Given the description of an element on the screen output the (x, y) to click on. 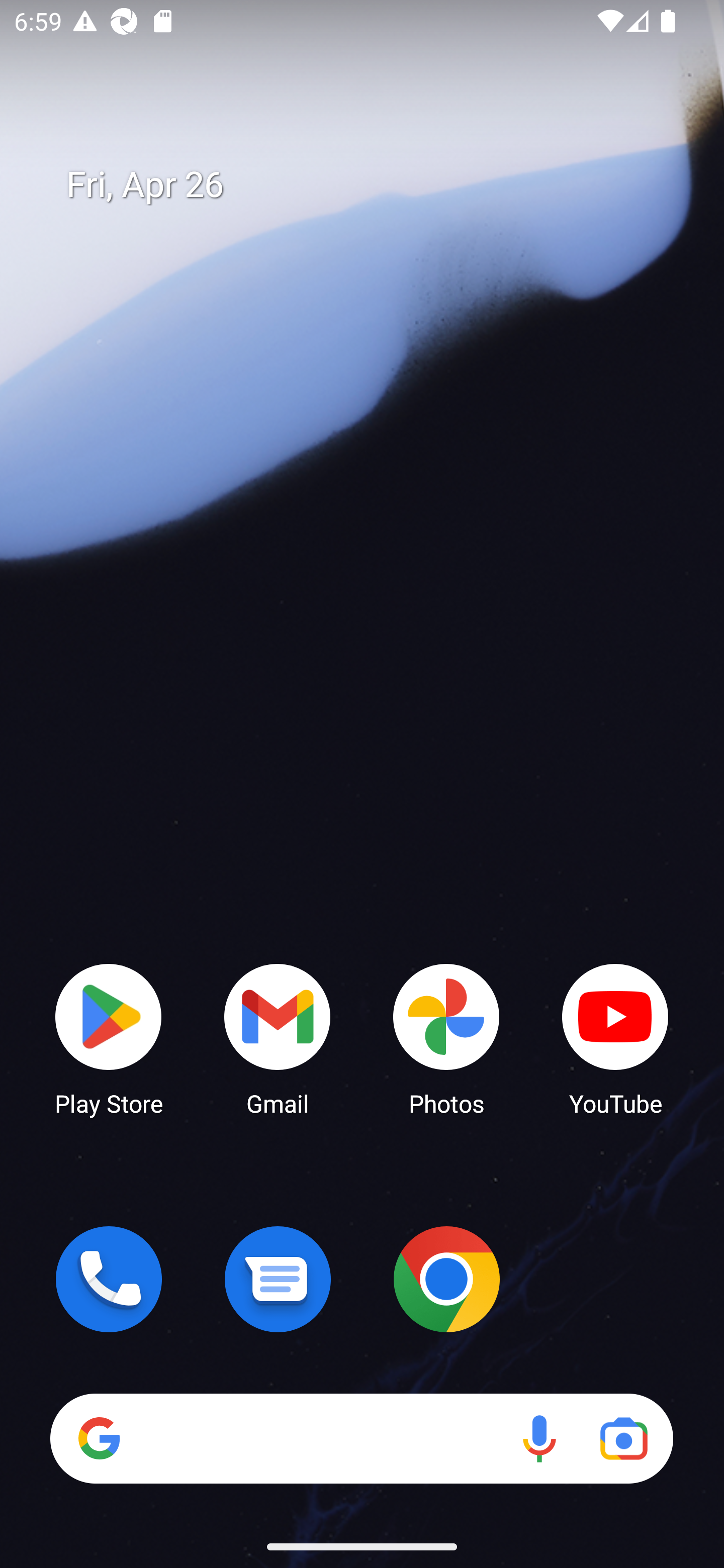
Fri, Apr 26 (375, 184)
Play Store (108, 1038)
Gmail (277, 1038)
Photos (445, 1038)
YouTube (615, 1038)
Phone (108, 1279)
Messages (277, 1279)
Chrome (446, 1279)
Search Voice search Google Lens (361, 1438)
Voice search (539, 1438)
Google Lens (623, 1438)
